Given the description of an element on the screen output the (x, y) to click on. 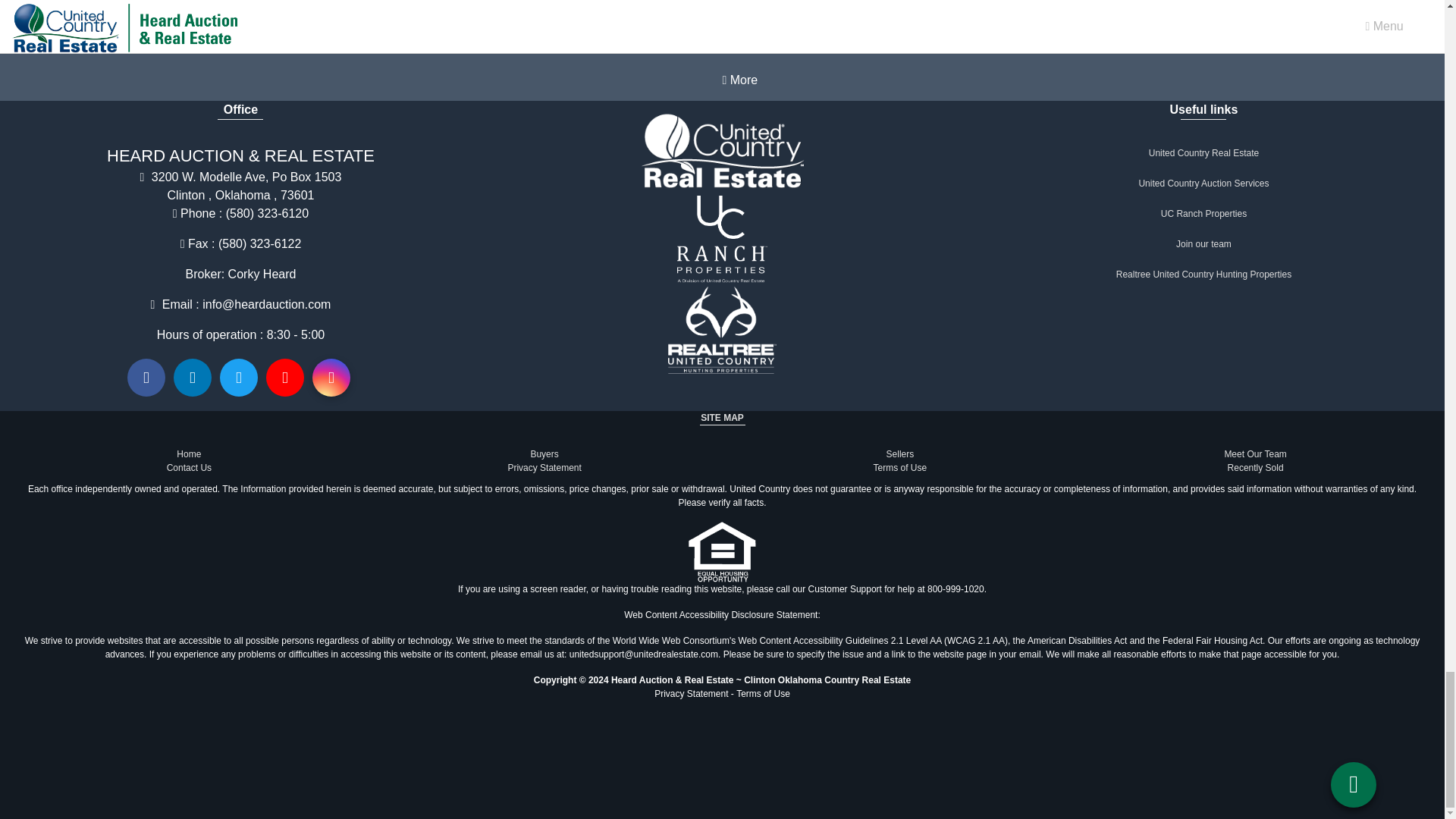
Youtube link (285, 377)
Twitter link (238, 377)
LinkedIn link (192, 377)
Instagram link (331, 377)
Facebook link (146, 377)
Equal Housing Opportunity logo (721, 551)
